Given the description of an element on the screen output the (x, y) to click on. 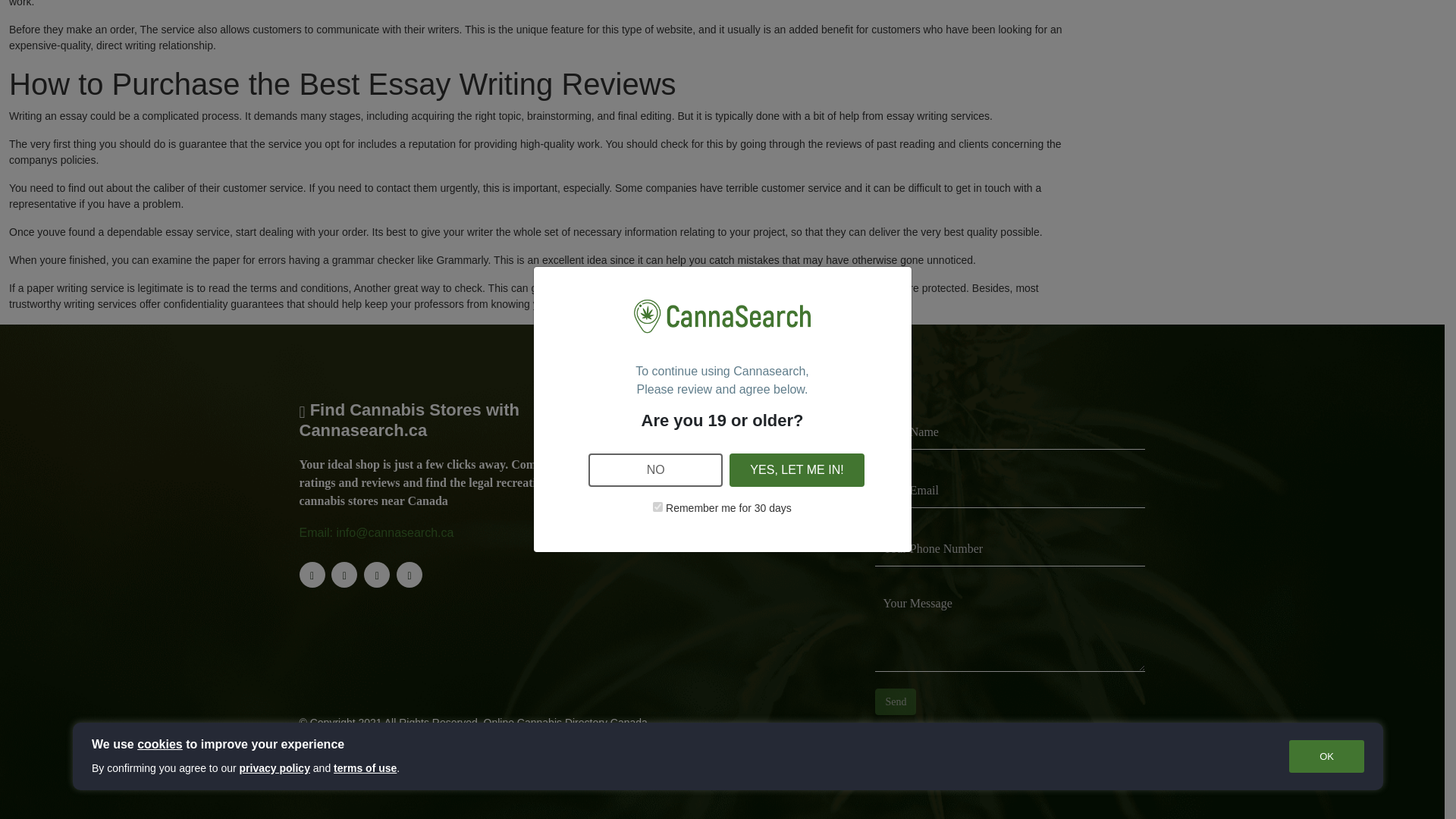
Send (895, 701)
